Given the description of an element on the screen output the (x, y) to click on. 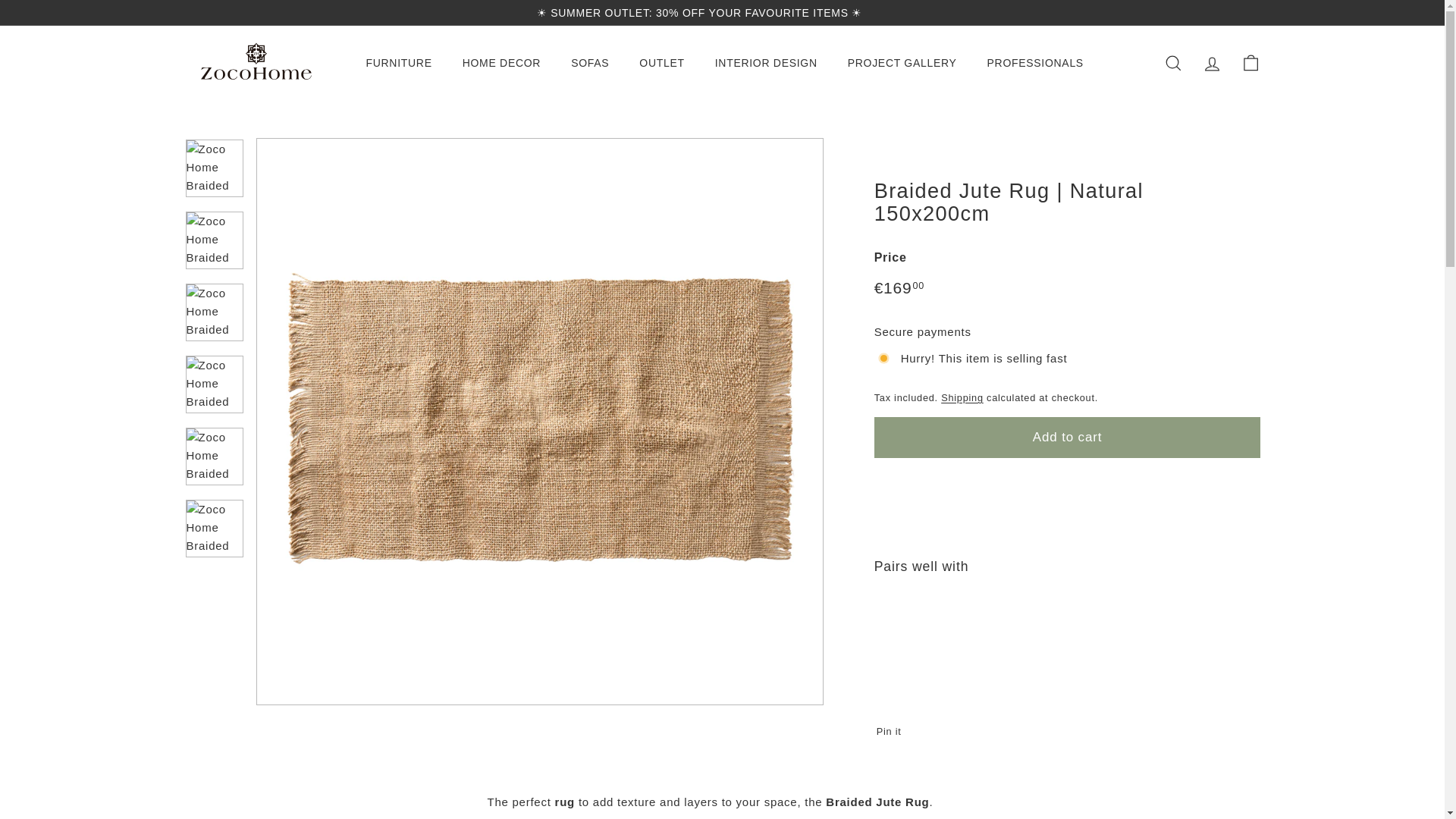
Zoco Home  on YouTube (1240, 12)
TikTok (1256, 12)
Pinterest (1248, 12)
Zoco Home  on Pinterest (1248, 12)
Instagram (1226, 12)
Zoco Home  on Facebook (1233, 12)
Pin on Pinterest (893, 730)
Zoco Home  on Instagram (1226, 12)
YouTube (1240, 12)
